Given the description of an element on the screen output the (x, y) to click on. 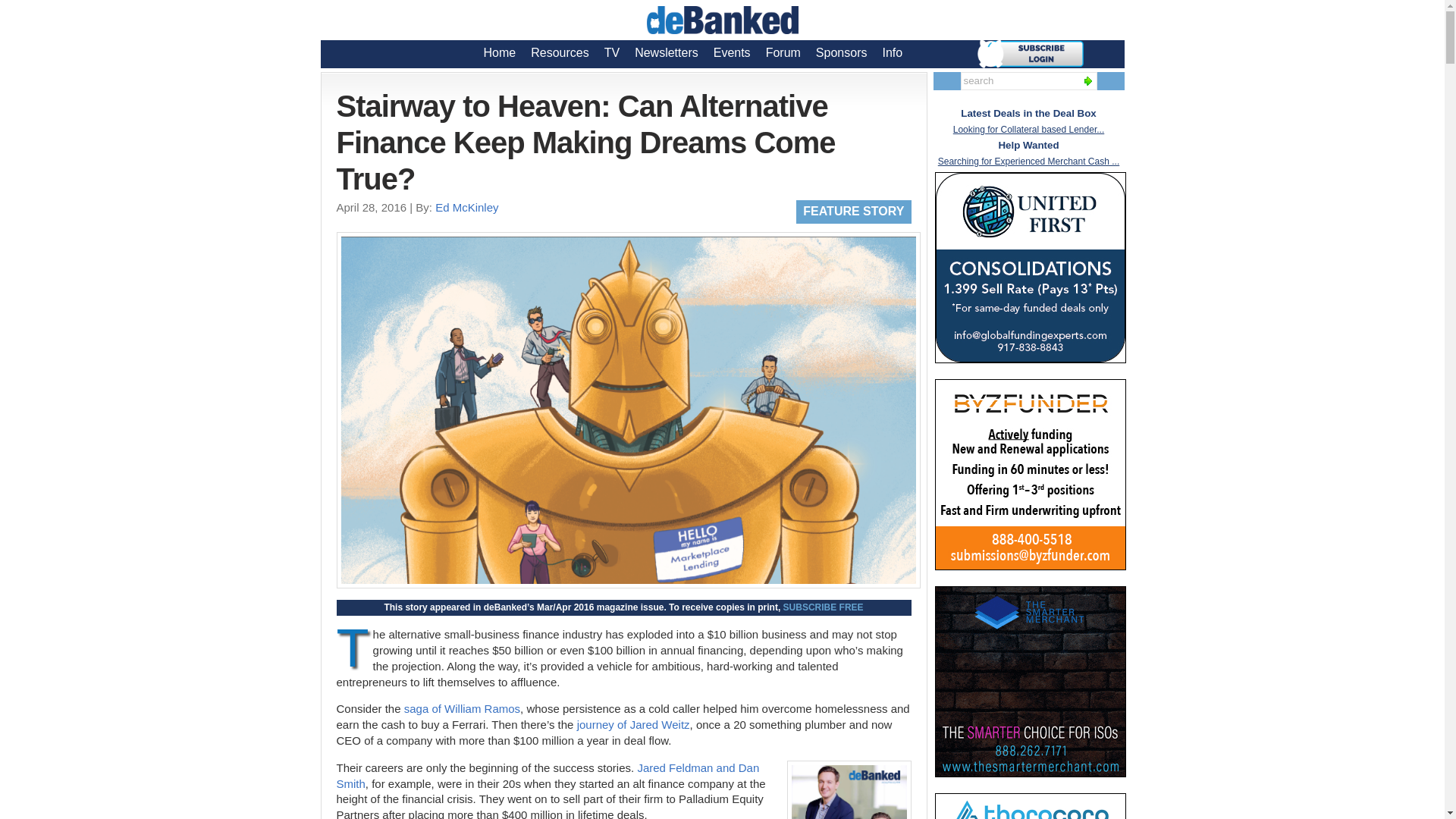
Jared Feldman and Dan Smith (548, 775)
Resources (558, 52)
Forum (783, 52)
search (1018, 81)
The Smarter Merchant (1029, 681)
saga of William Ramos (461, 707)
ByzFunder (1029, 474)
Info (892, 52)
Thorocorp (1029, 806)
United First (1029, 267)
SUBSCRIBE FREE (823, 606)
Sponsors (841, 52)
journey of Jared Weitz (633, 724)
TV (611, 52)
Newsletters (666, 52)
